Given the description of an element on the screen output the (x, y) to click on. 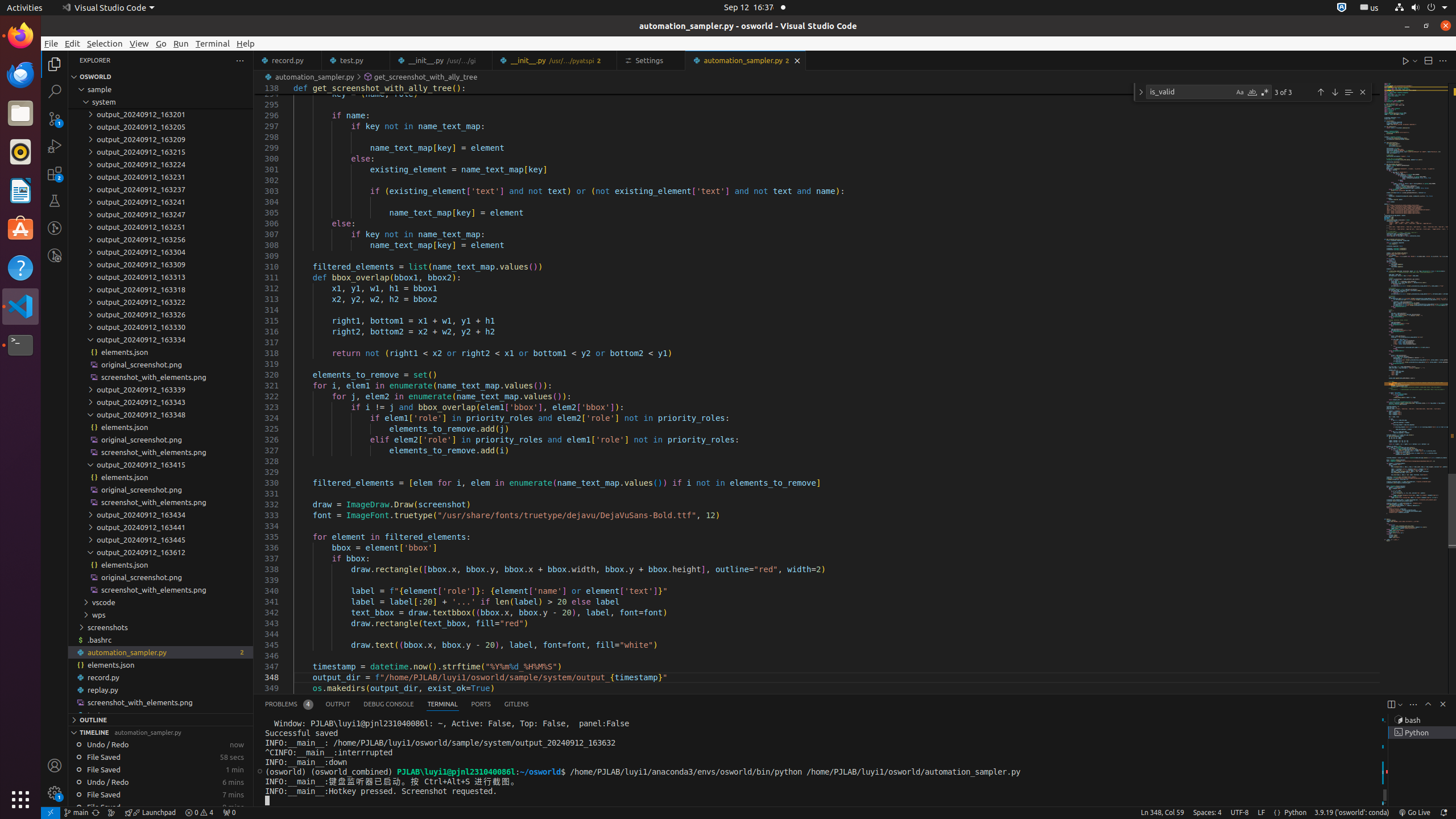
7 minutes: File Saved Element type: tree-item (160, 794)
output_20240912_163434 Element type: tree-item (160, 514)
Run or Debug... Element type: push-button (1414, 60)
screenshots Element type: tree-item (160, 627)
Ports Element type: page-tab (480, 704)
